Given the description of an element on the screen output the (x, y) to click on. 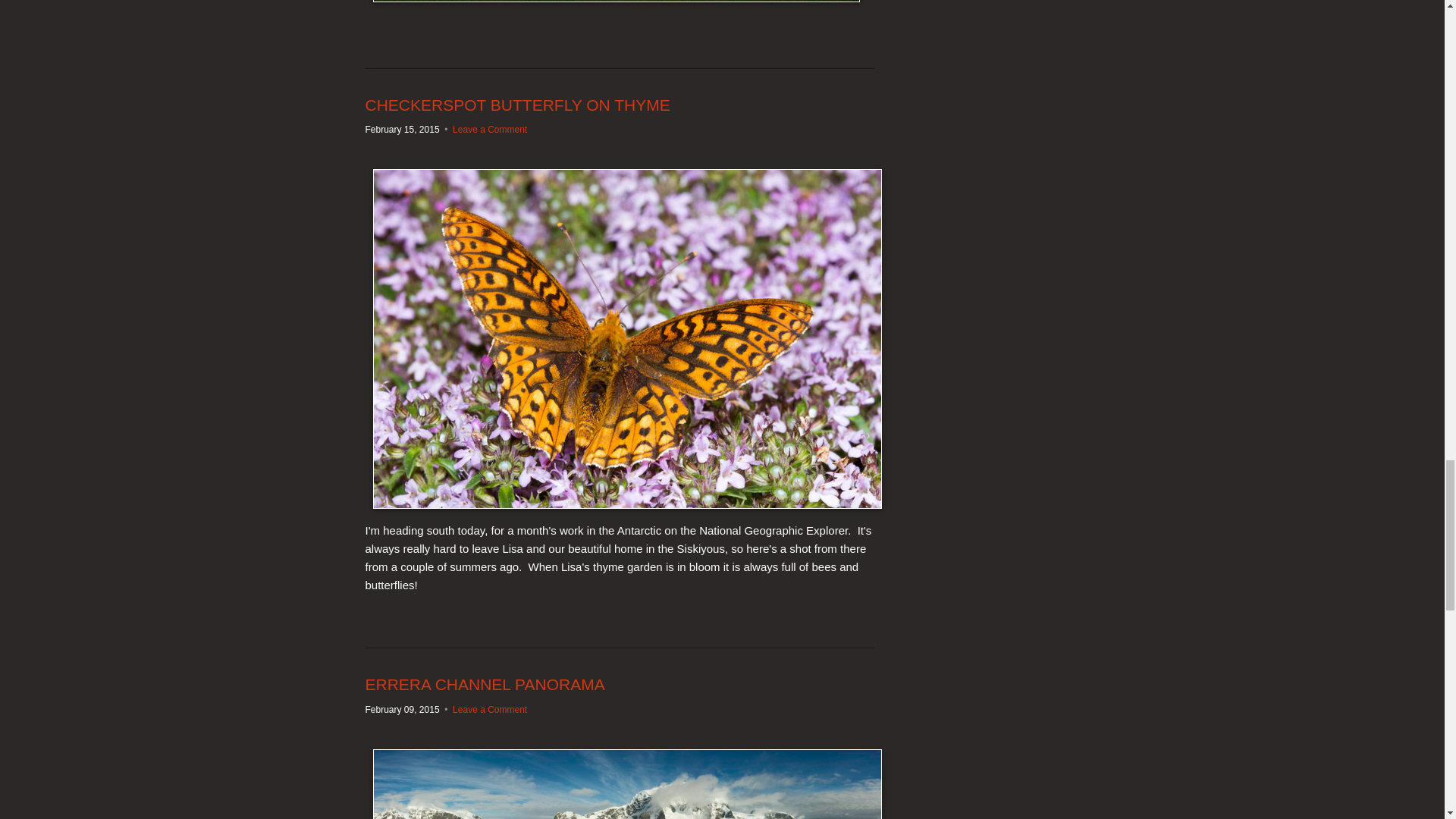
CHECKERSPOT BUTTERFLY ON THYME (517, 104)
Leave a Comment (489, 129)
ERRERA CHANNEL PANORAMA (485, 683)
Leave a Comment (489, 709)
